Given the description of an element on the screen output the (x, y) to click on. 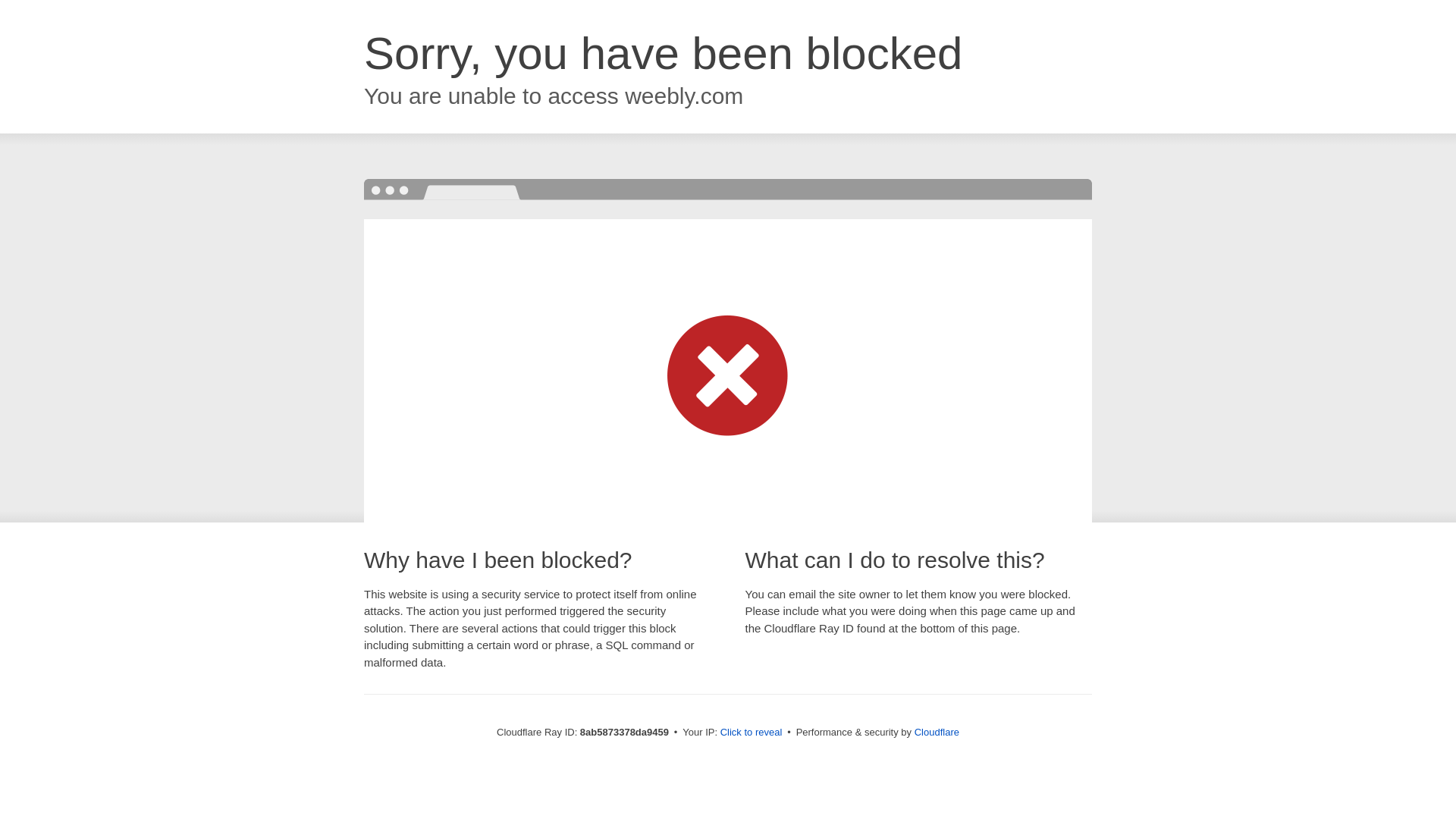
Cloudflare (936, 731)
Click to reveal (751, 732)
